Given the description of an element on the screen output the (x, y) to click on. 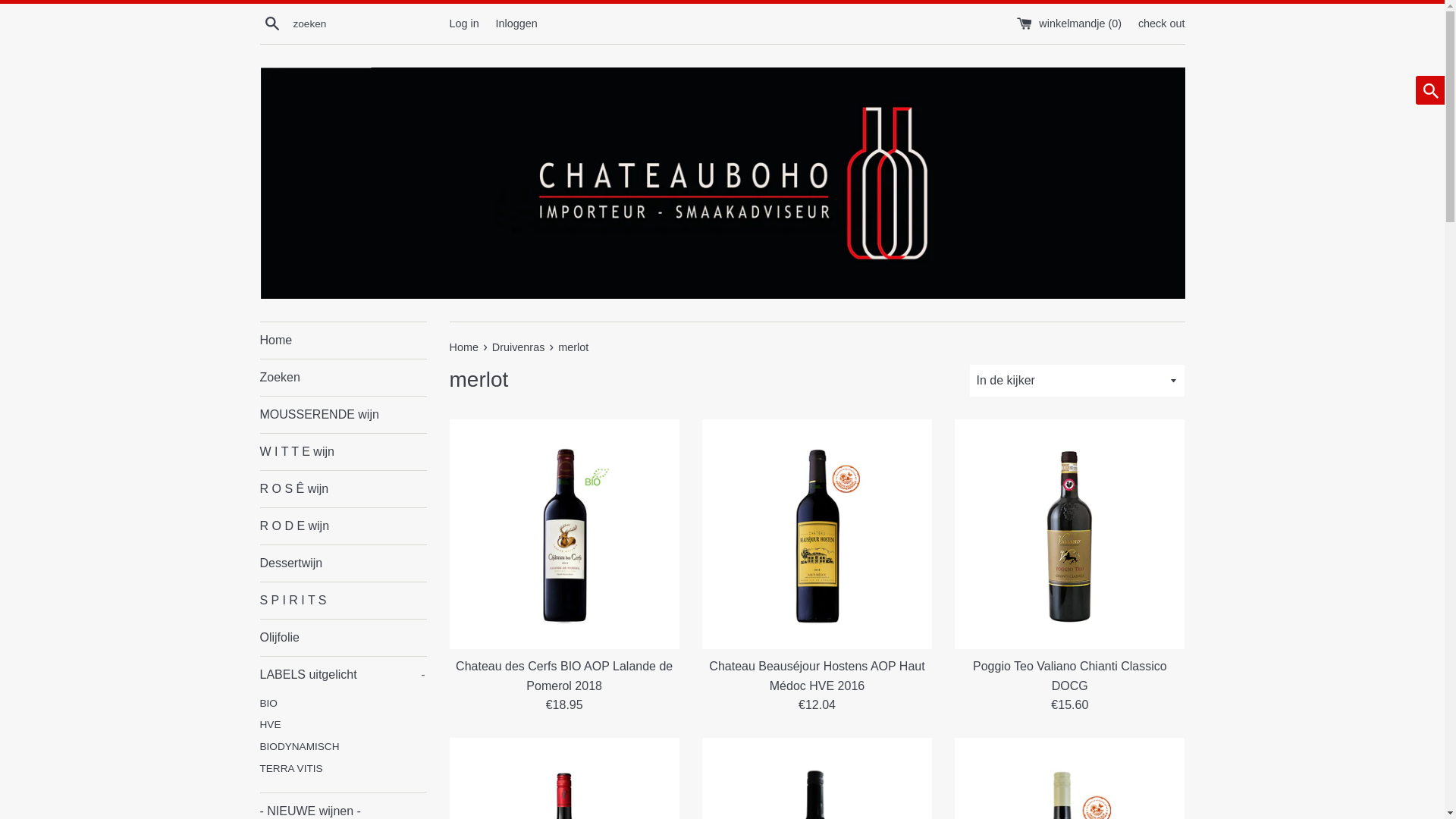
Druivenras Element type: text (520, 347)
Home Element type: text (464, 347)
winkelmandje (0) Element type: text (1070, 22)
Chateau des Cerfs BIO AOP Lalande de Pomerol 2018 Element type: hover (563, 534)
Inloggen Element type: text (515, 22)
Poggio Teo Valiano Chianti Classico DOCG Element type: text (1069, 675)
W I T T E wijn Element type: text (342, 451)
R O D E wijn Element type: text (342, 526)
Chateau des Cerfs BIO AOP Lalande de Pomerol 2018 Element type: text (563, 675)
Log in Element type: text (463, 22)
Olijfolie Element type: text (342, 637)
MOUSSERENDE wijn Element type: text (342, 414)
check out Element type: text (1161, 22)
LABELS uitgelicht
- Element type: text (342, 674)
Dessertwijn Element type: text (342, 563)
S P I R I T S Element type: text (342, 600)
BIO Element type: text (342, 704)
BIODYNAMISCH Element type: text (342, 747)
Home Element type: text (342, 340)
zoeken Element type: text (271, 22)
Zoeken Element type: text (342, 377)
Poggio Teo Valiano Chianti Classico DOCG Element type: hover (1069, 534)
HVE Element type: text (342, 725)
TERRA VITIS Element type: text (342, 769)
